Given the description of an element on the screen output the (x, y) to click on. 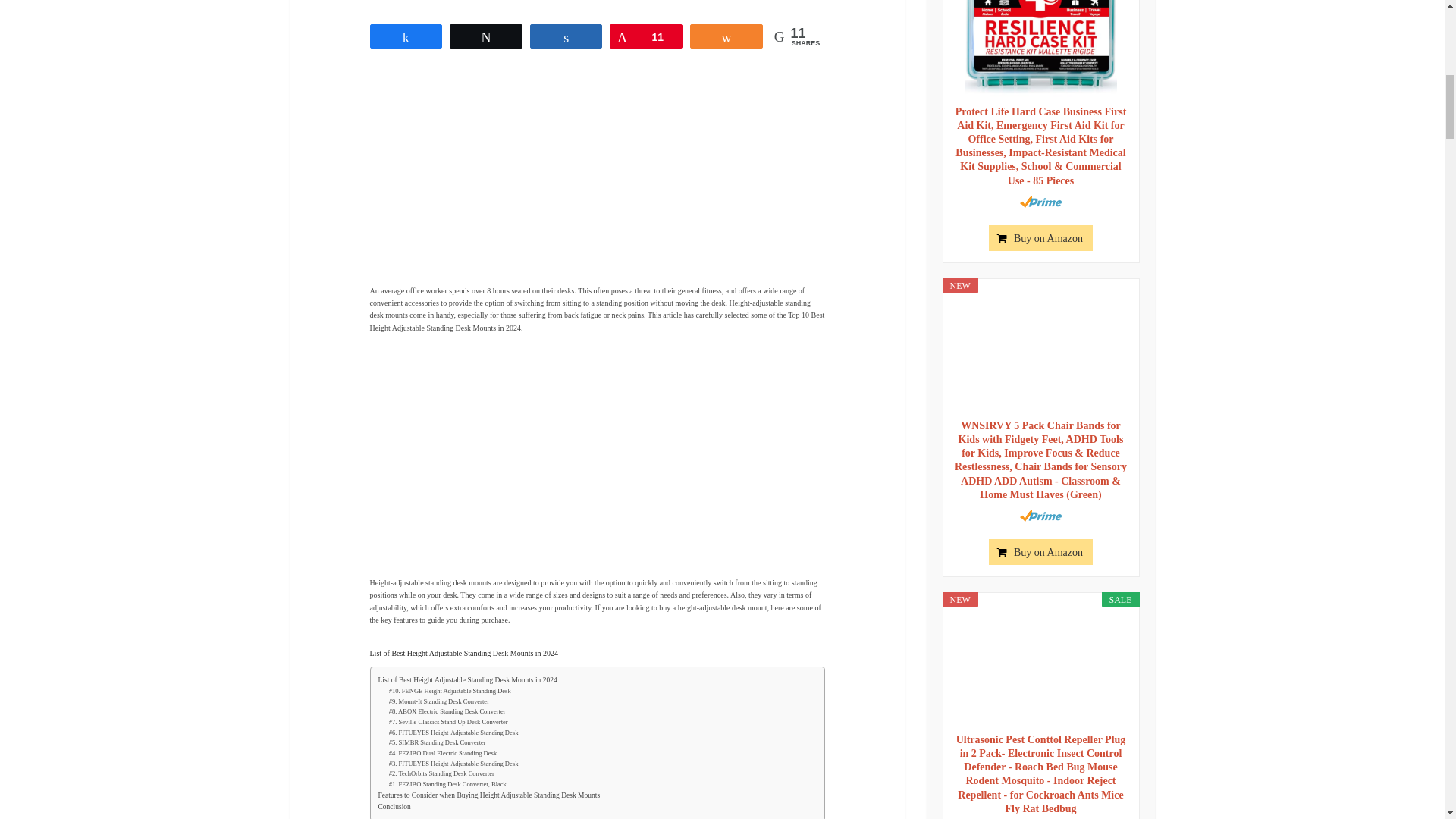
11 (645, 36)
List of Best Height Adjustable Standing Desk Mounts in 2024 (466, 680)
List of Best Height Adjustable Standing Desk Mounts in 2024 (466, 680)
Conclusion (393, 807)
